Given the description of an element on the screen output the (x, y) to click on. 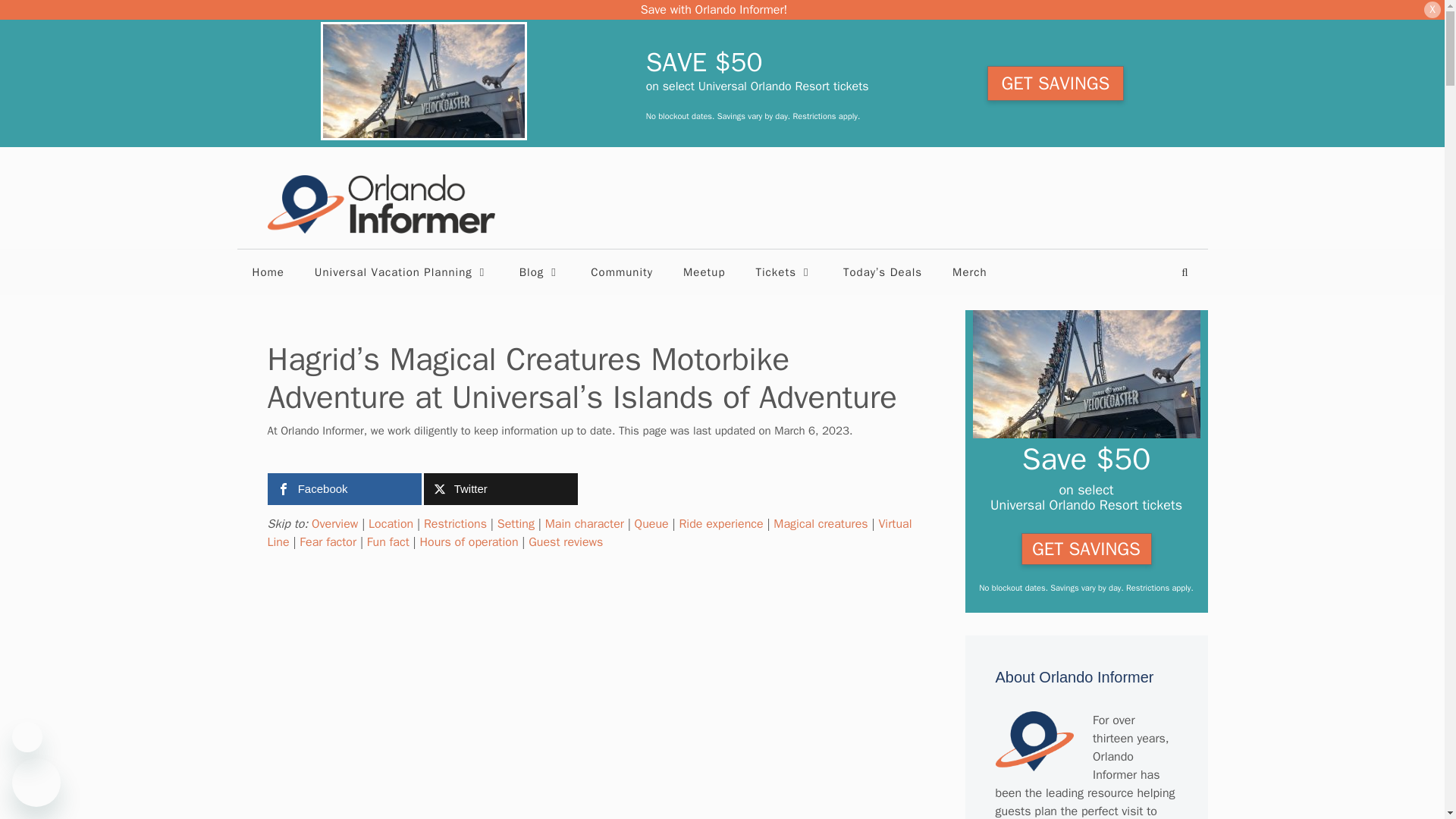
Facebook (343, 489)
Universal Vacation Planning (401, 271)
Home (266, 271)
Overview (334, 523)
Fear factor (327, 541)
GET SAVINGS (1055, 83)
Merch (969, 271)
Queue (651, 523)
Ride experience (720, 523)
Virtual Line (588, 532)
Meetup (703, 271)
Twitter (499, 489)
Restrictions (454, 523)
Community (621, 271)
Magical creatures (820, 523)
